Given the description of an element on the screen output the (x, y) to click on. 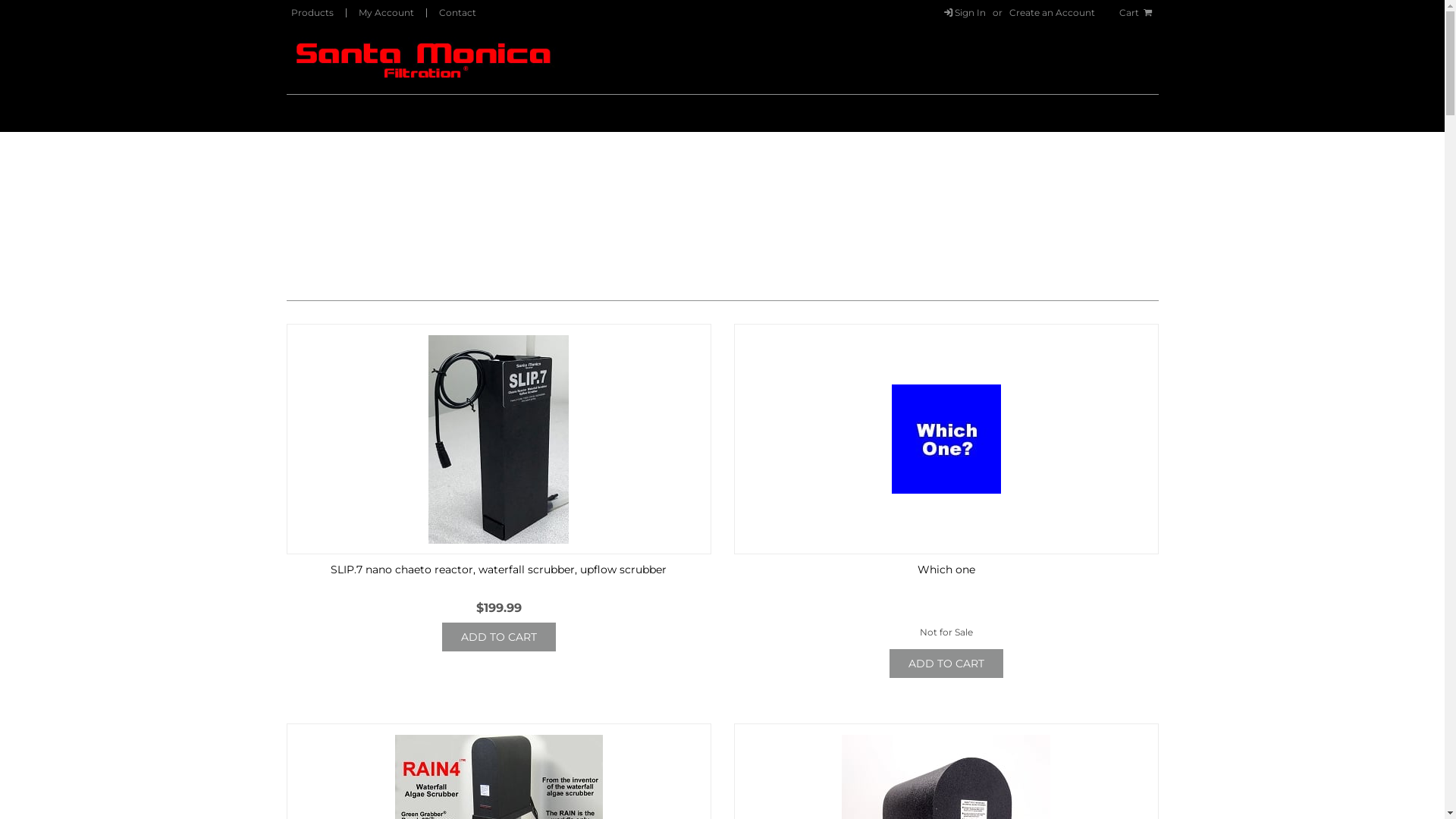
Create an Account Element type: text (1051, 12)
Which one Element type: text (946, 569)
Cart Element type: text (1136, 12)
Contact Element type: text (456, 12)
Sign In Element type: text (963, 12)
ADD TO CART Element type: text (498, 636)
ADD TO CART Element type: text (945, 663)
Products Element type: text (312, 12)
My Account Element type: text (385, 12)
